Given the description of an element on the screen output the (x, y) to click on. 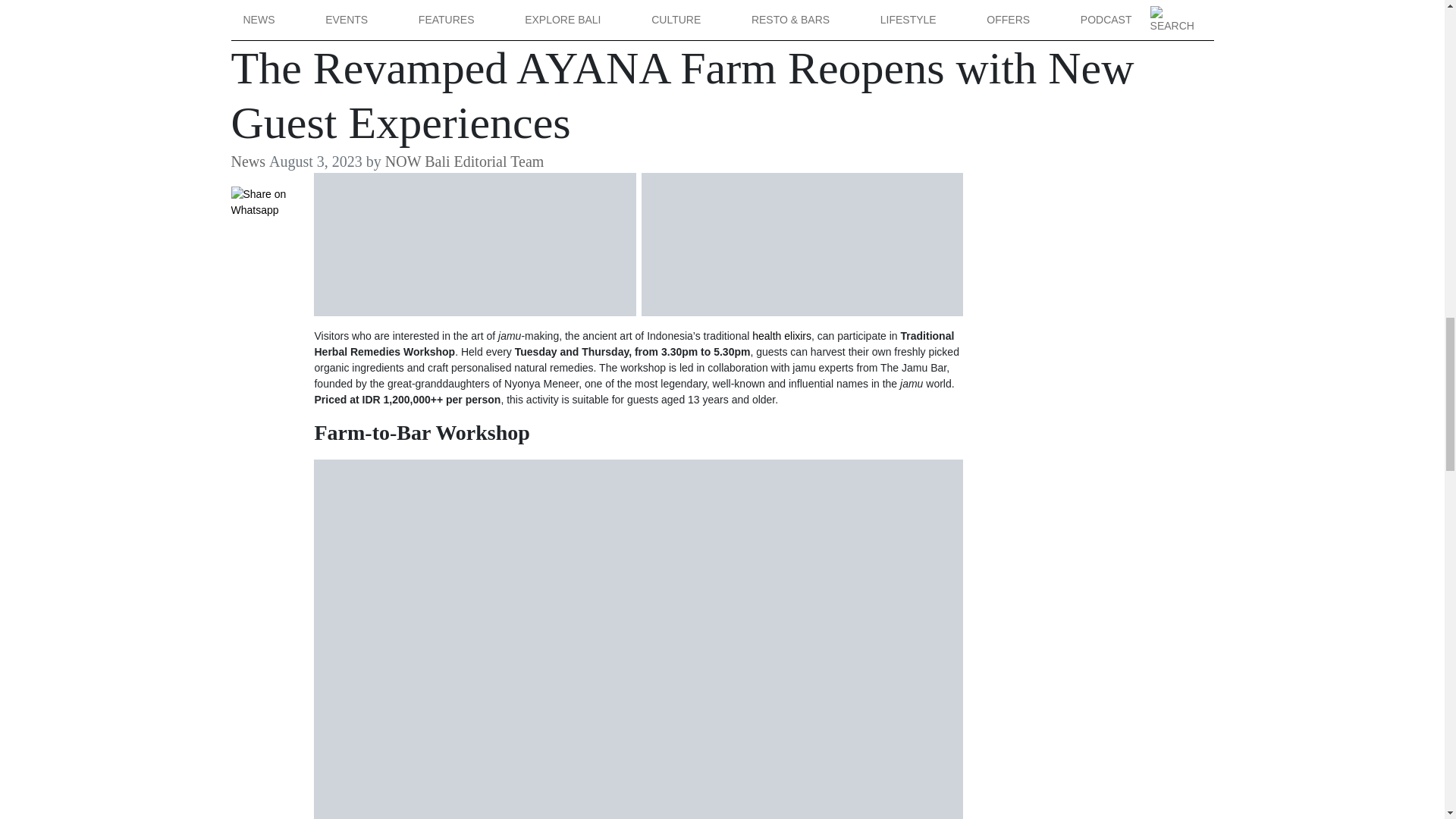
health elixirs (781, 336)
